Given the description of an element on the screen output the (x, y) to click on. 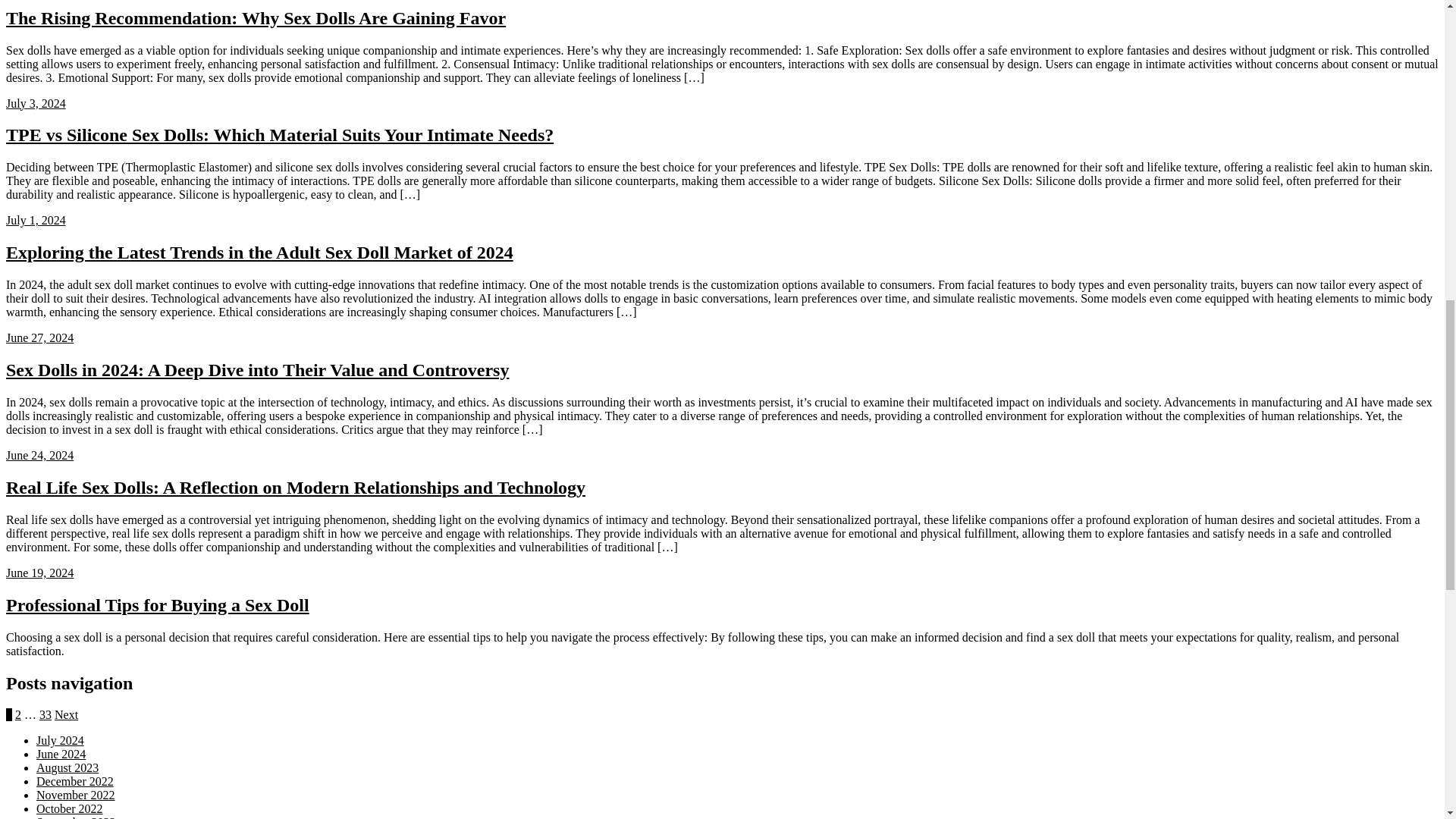
October 2022 (69, 808)
The Rising Recommendation: Why Sex Dolls Are Gaining Favor (255, 17)
Next (66, 714)
June 27, 2024 (39, 337)
July 1, 2024 (35, 219)
August 2023 (67, 767)
December 2022 (74, 780)
33 (44, 714)
June 24, 2024 (39, 454)
2 (17, 714)
June 2024 (60, 753)
November 2022 (75, 794)
Professional Tips for Buying a Sex Doll (156, 605)
